Given the description of an element on the screen output the (x, y) to click on. 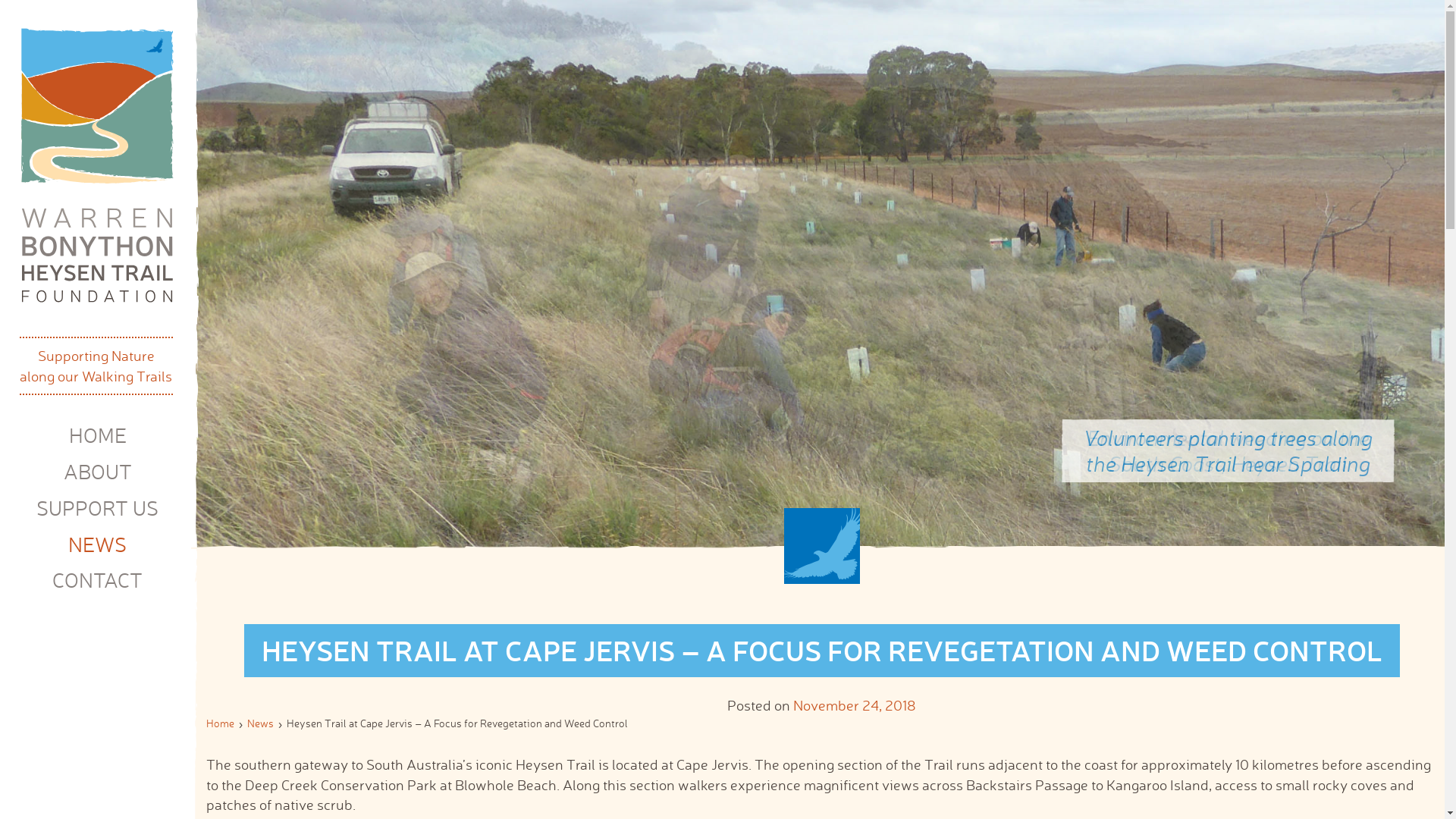
NEWS Element type: text (97, 544)
Go to Website Home Page Element type: hover (97, 166)
HOME Element type: text (96, 435)
ABOUT Element type: text (97, 471)
Home Element type: text (220, 722)
November 24, 2018 Element type: text (854, 705)
SUPPORT US Element type: text (97, 507)
News Element type: text (260, 722)
CONTACT Element type: text (97, 580)
